Given the description of an element on the screen output the (x, y) to click on. 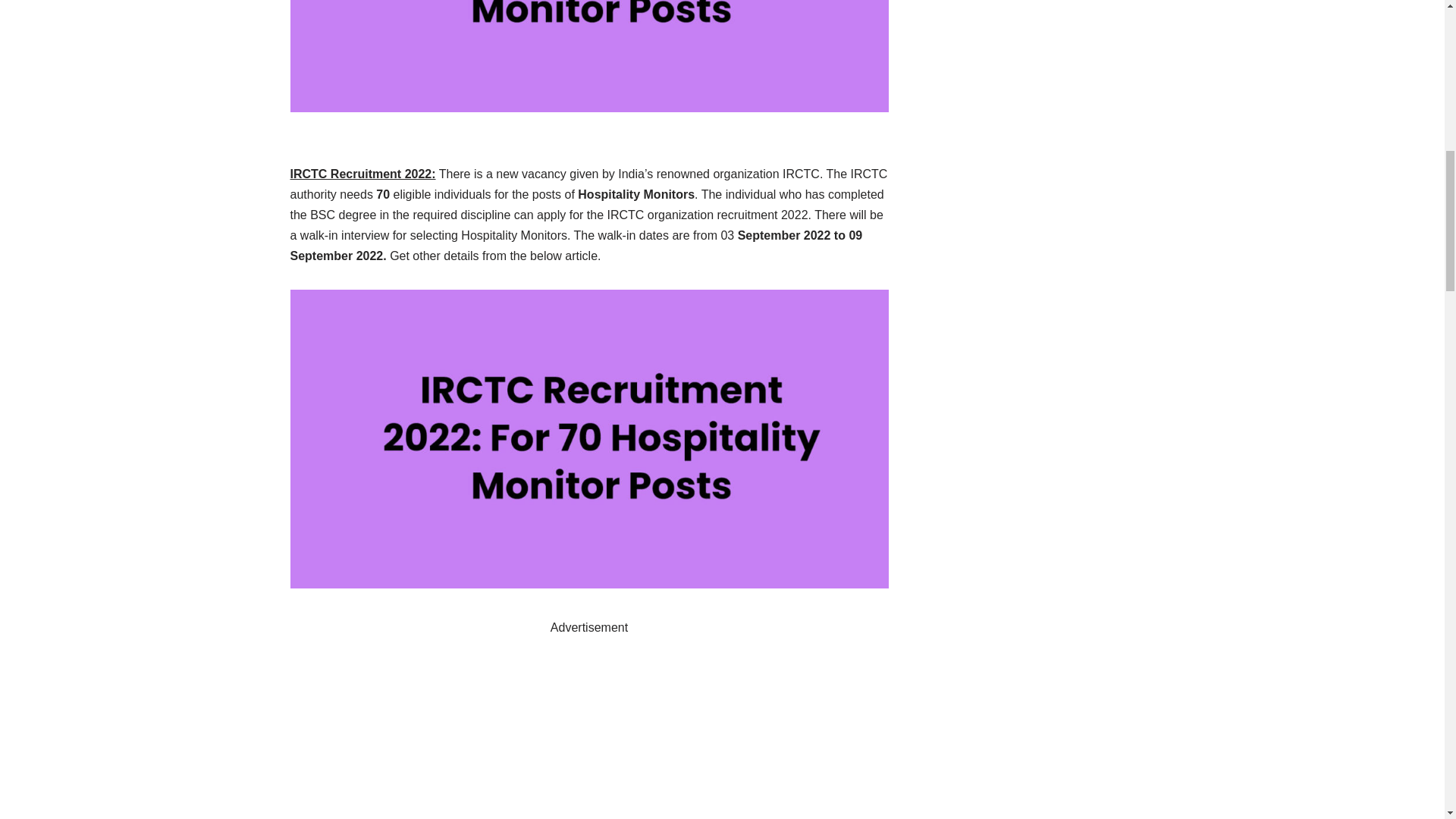
Advertisement (588, 728)
